Given the description of an element on the screen output the (x, y) to click on. 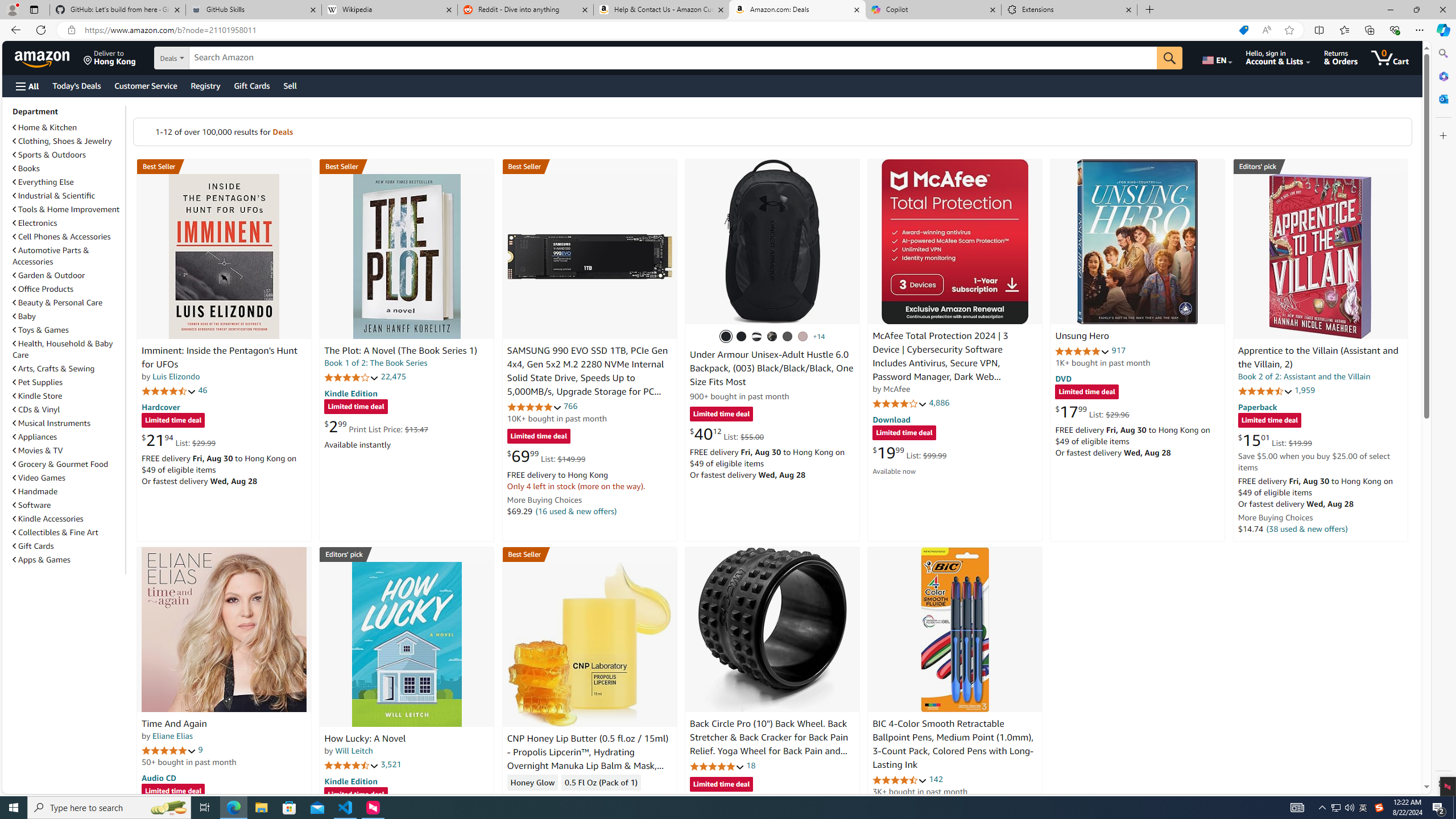
Cell Phones & Accessories (61, 236)
Choose a language for shopping. (1216, 57)
Apprentice to the Villain (Assistant and the Villain, 2) (1318, 358)
How Lucky: A Novel (365, 738)
Kindle Store (67, 395)
Apps & Games (41, 559)
Beauty & Personal Care (58, 302)
Video Games (67, 477)
4.8 out of 5 stars (716, 766)
Automotive Parts & Accessories (67, 255)
Audio CD (158, 777)
Gift Cards (33, 545)
